Given the description of an element on the screen output the (x, y) to click on. 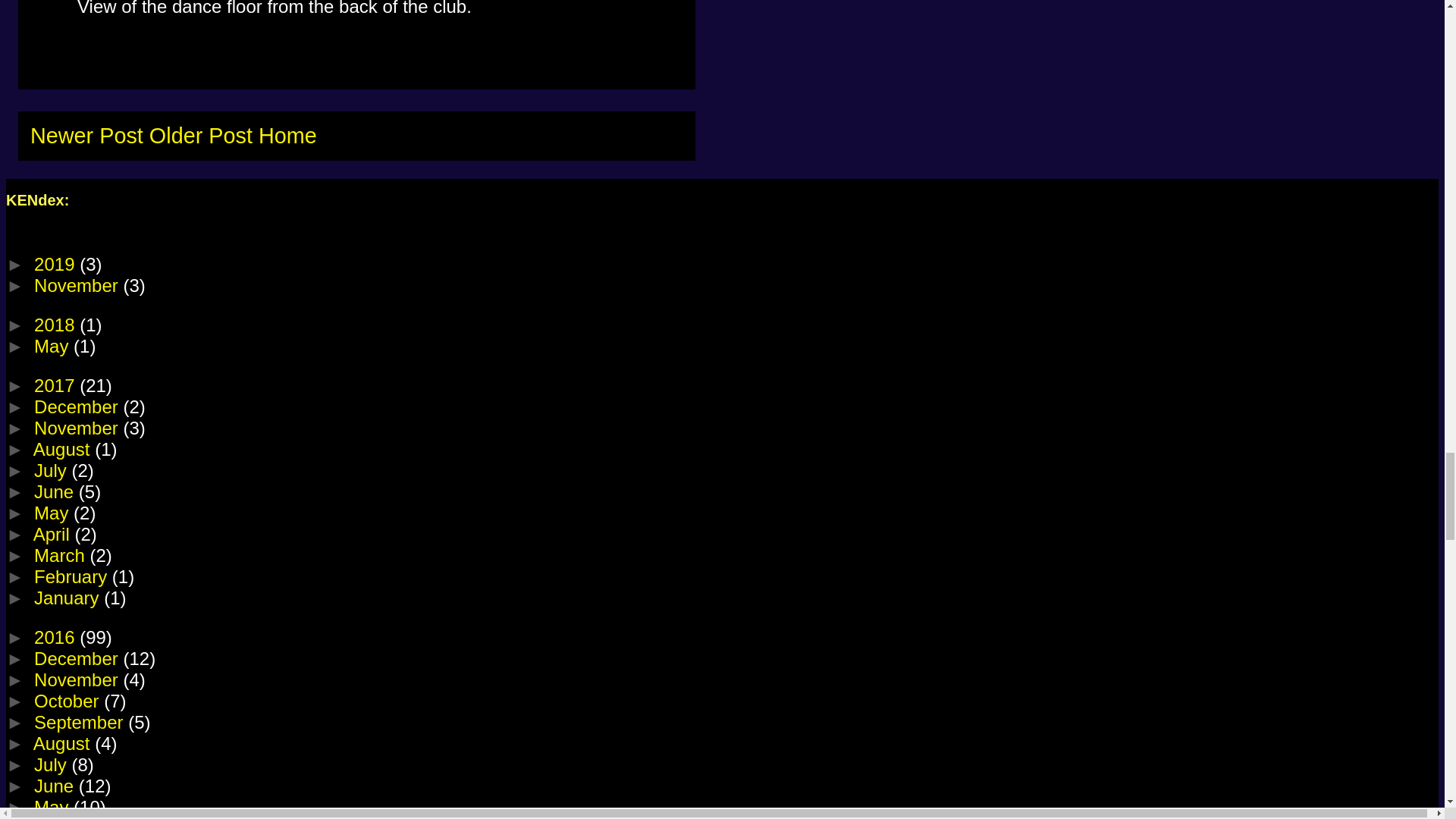
November (77, 285)
Newer Post (86, 135)
May (53, 345)
2019 (56, 263)
2017 (56, 385)
Newer Post (86, 135)
Home (288, 135)
Older Post (200, 135)
Older Post (200, 135)
August (63, 448)
December (77, 406)
2018 (56, 324)
November (77, 427)
